Given the description of an element on the screen output the (x, y) to click on. 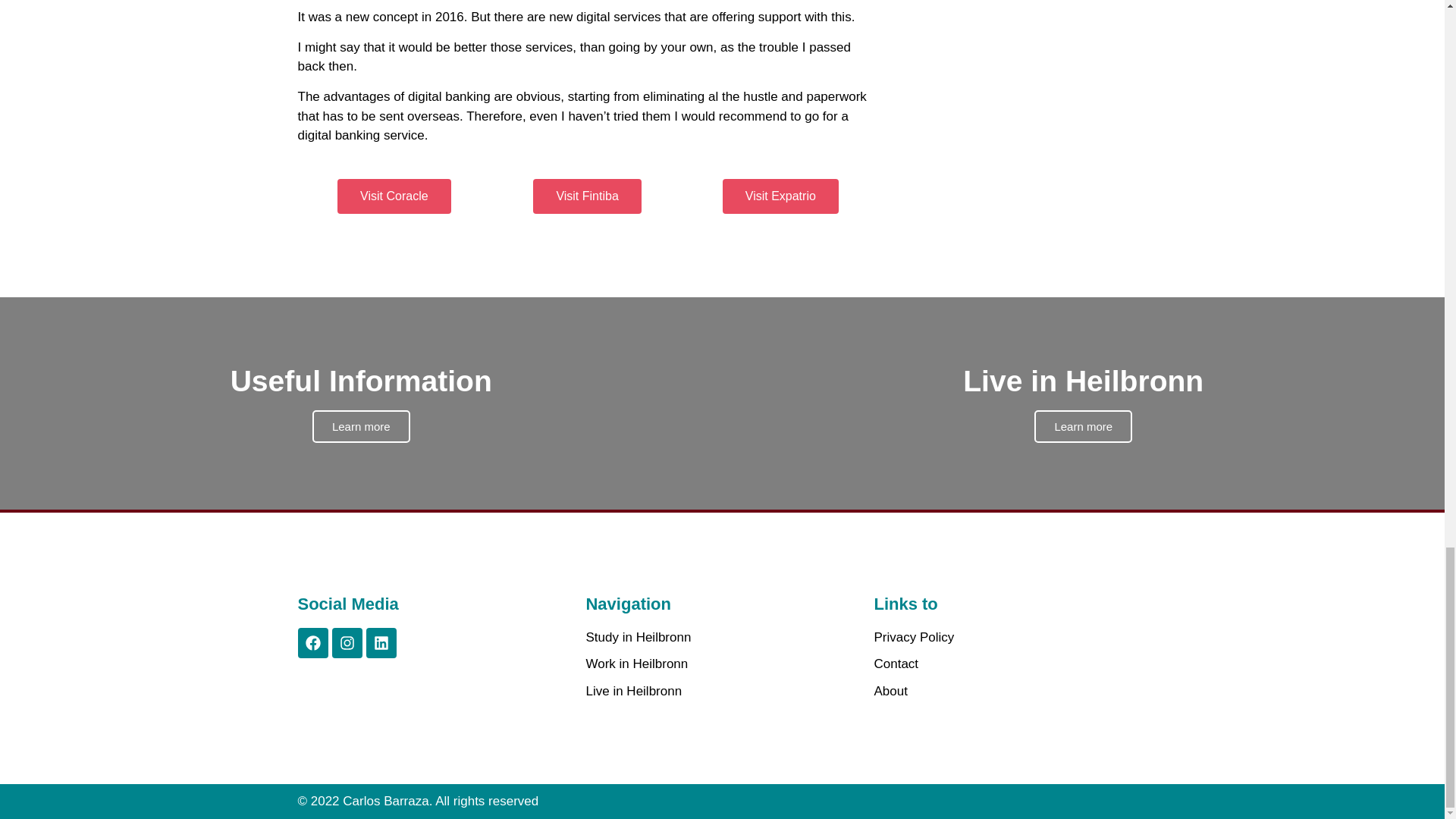
Visit Coracle (394, 196)
Visit Expatrio (780, 196)
Privacy Policy (1010, 637)
Visit Fintiba (1010, 664)
Live in Heilbronn (586, 196)
About (722, 691)
Study in Heilbronn (1010, 691)
